Given the description of an element on the screen output the (x, y) to click on. 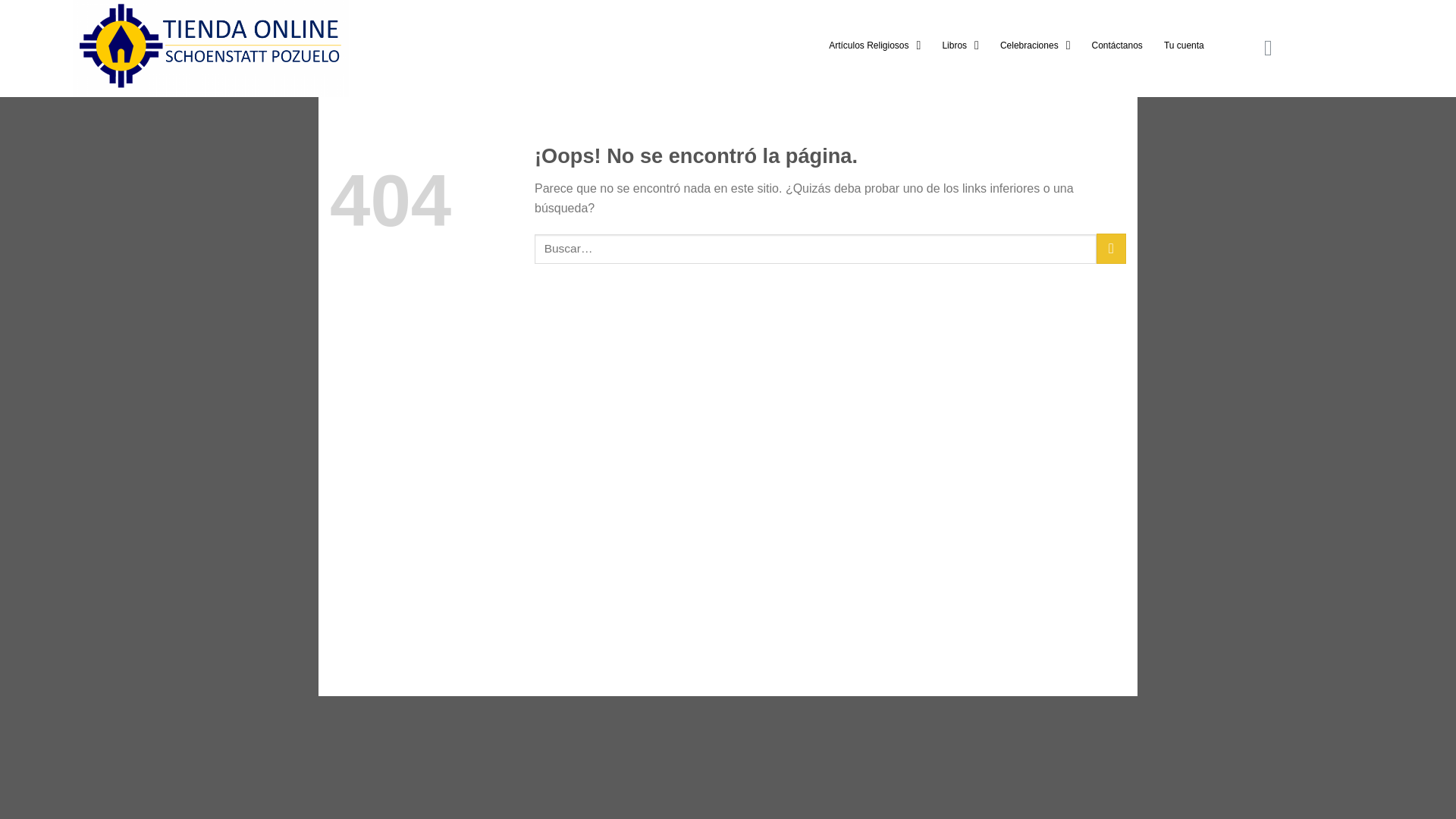
Tu cuenta (1183, 45)
Libros (960, 45)
Celebraciones (1035, 45)
